Given the description of an element on the screen output the (x, y) to click on. 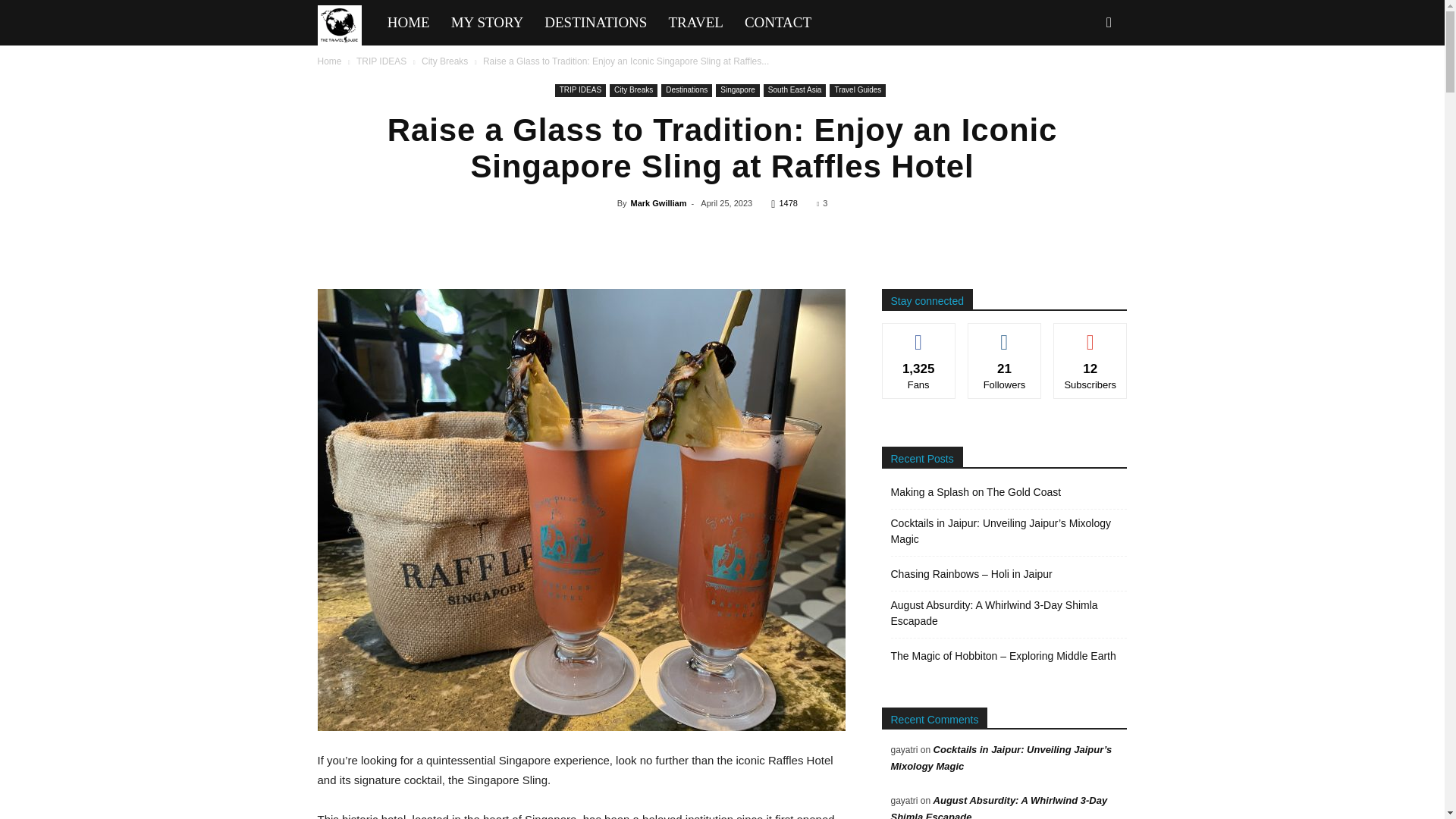
View all posts in TRIP IDEAS (381, 61)
The Travel Dude (339, 25)
View all posts in City Breaks (444, 61)
